Given the description of an element on the screen output the (x, y) to click on. 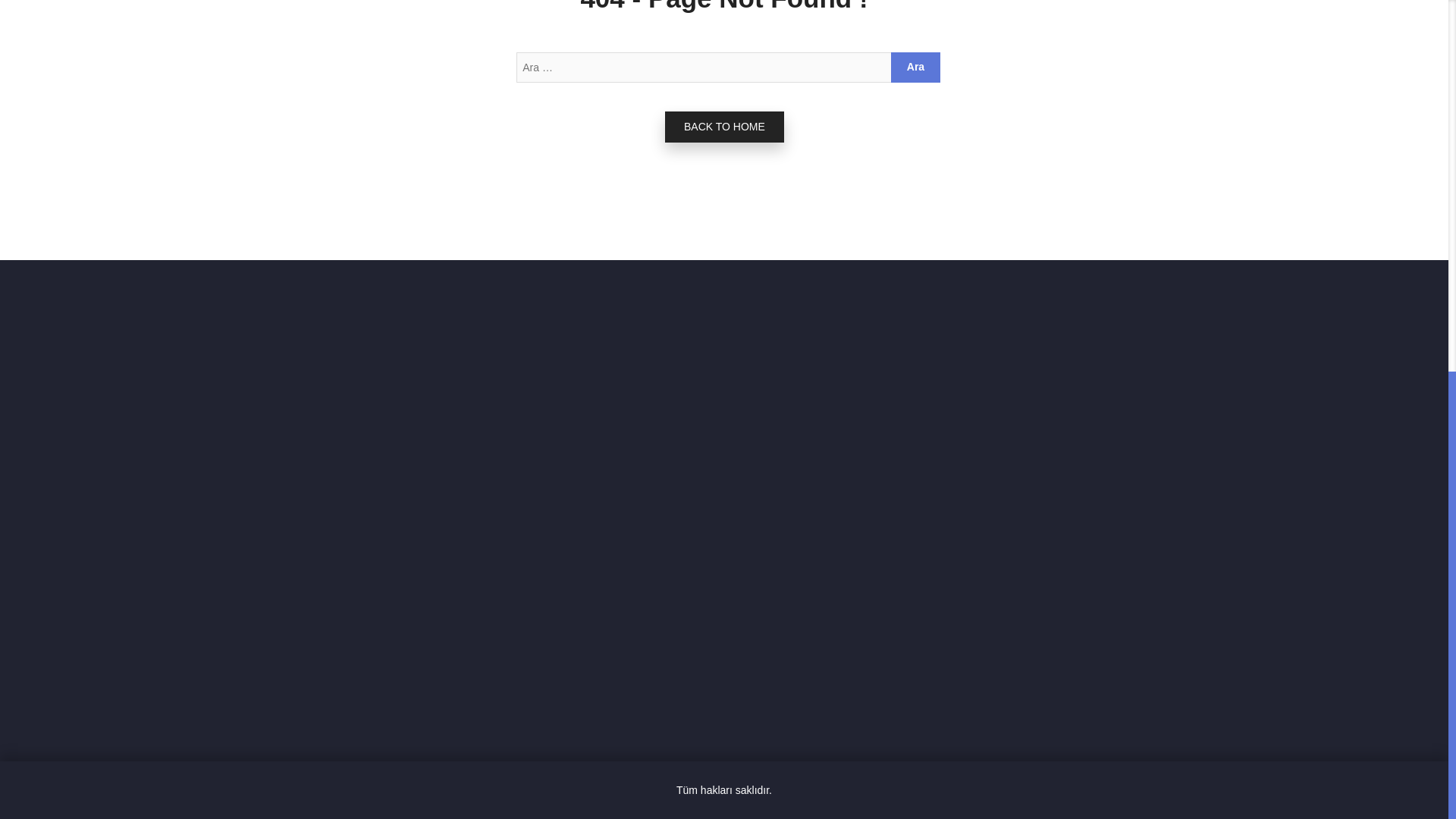
Ara (915, 67)
BACK TO HOME (724, 126)
Ara (915, 67)
Ara (915, 67)
